Given the description of an element on the screen output the (x, y) to click on. 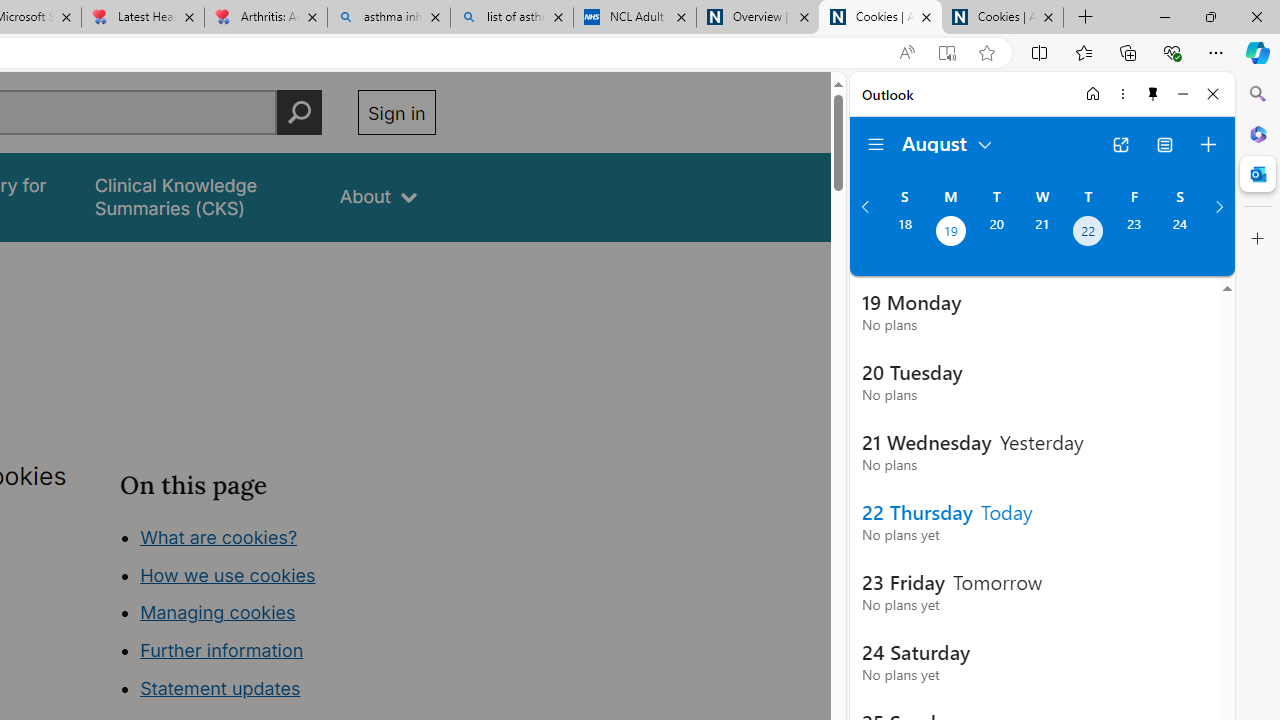
list of asthma inhalers uk - Search (511, 17)
Microsoft 365 (1258, 133)
Sign in (396, 112)
NCL Adult Asthma Inhaler Choice Guideline (634, 17)
Thursday, August 22, 2024. Today.  (1088, 233)
Folder navigation (876, 144)
Further information (221, 650)
Browser essentials (1171, 52)
Read aloud this page (Ctrl+Shift+U) (906, 53)
Settings and more (Alt+F) (1215, 52)
Add this page to favorites (Ctrl+D) (986, 53)
Open in new tab (1120, 144)
false (198, 196)
